Given the description of an element on the screen output the (x, y) to click on. 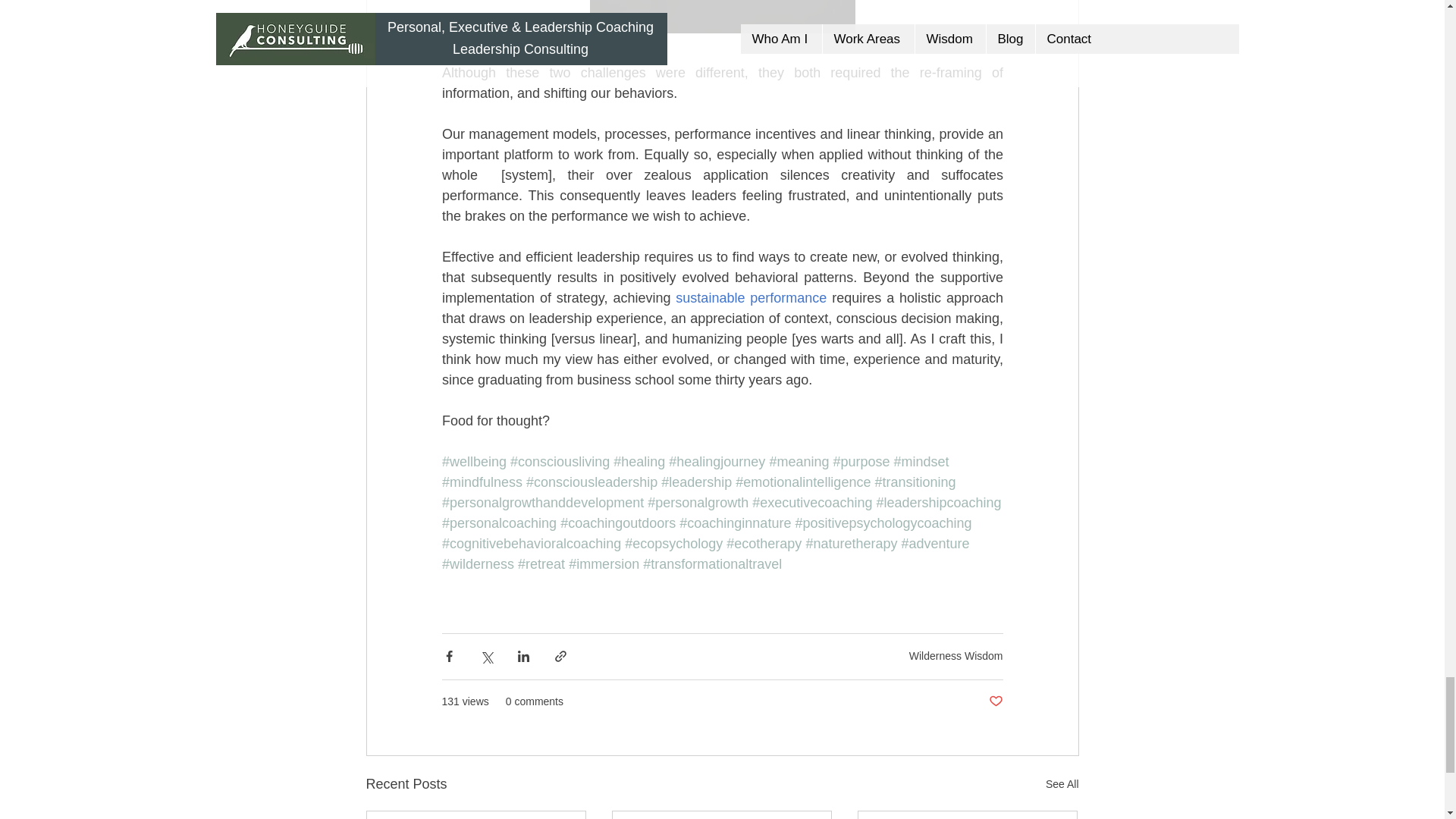
sustainable performance (751, 297)
